Given the description of an element on the screen output the (x, y) to click on. 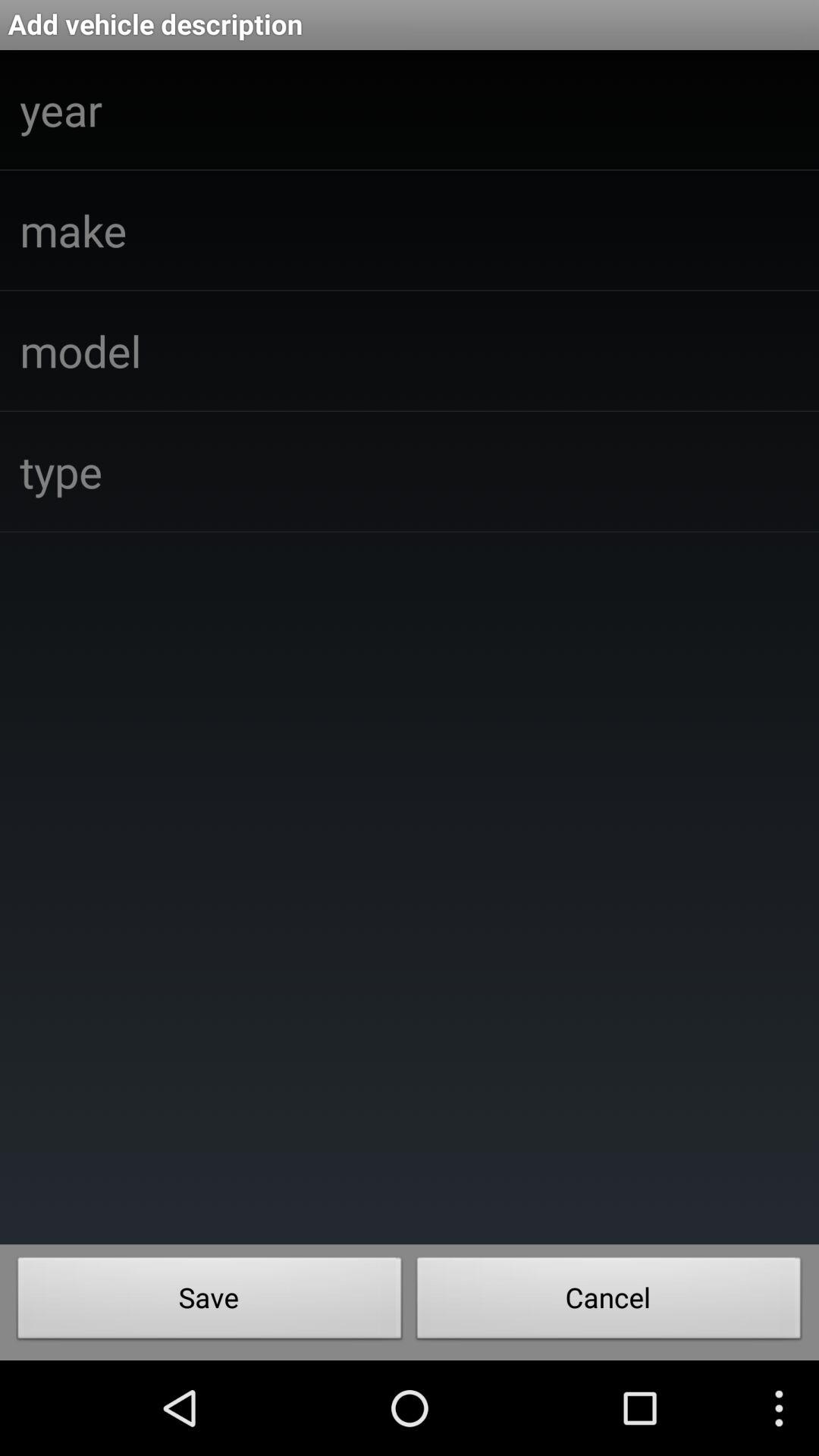
open the item next to the cancel icon (209, 1302)
